Given the description of an element on the screen output the (x, y) to click on. 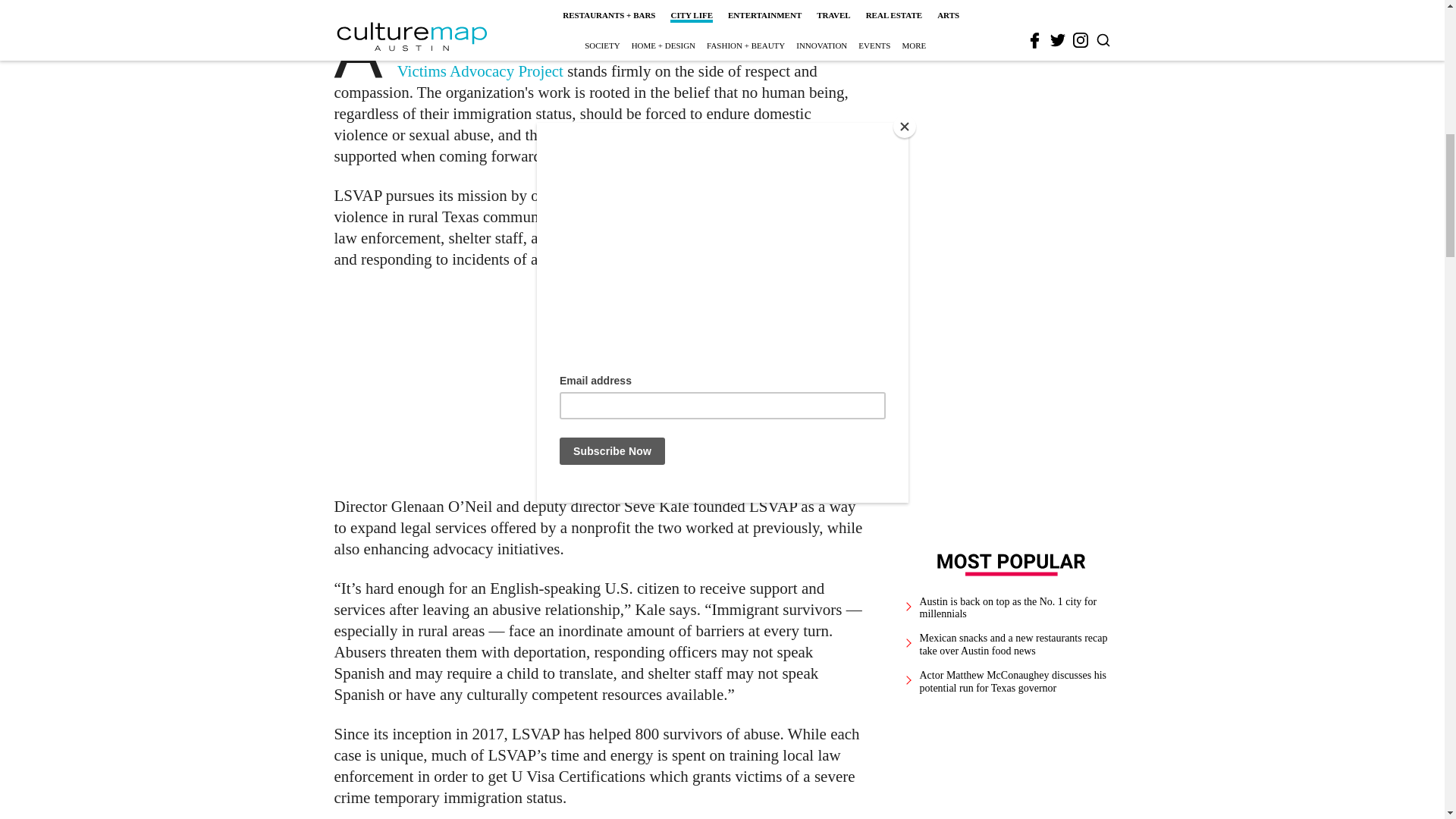
3rd party ad content (600, 382)
3rd party ad content (1011, 31)
